Given the description of an element on the screen output the (x, y) to click on. 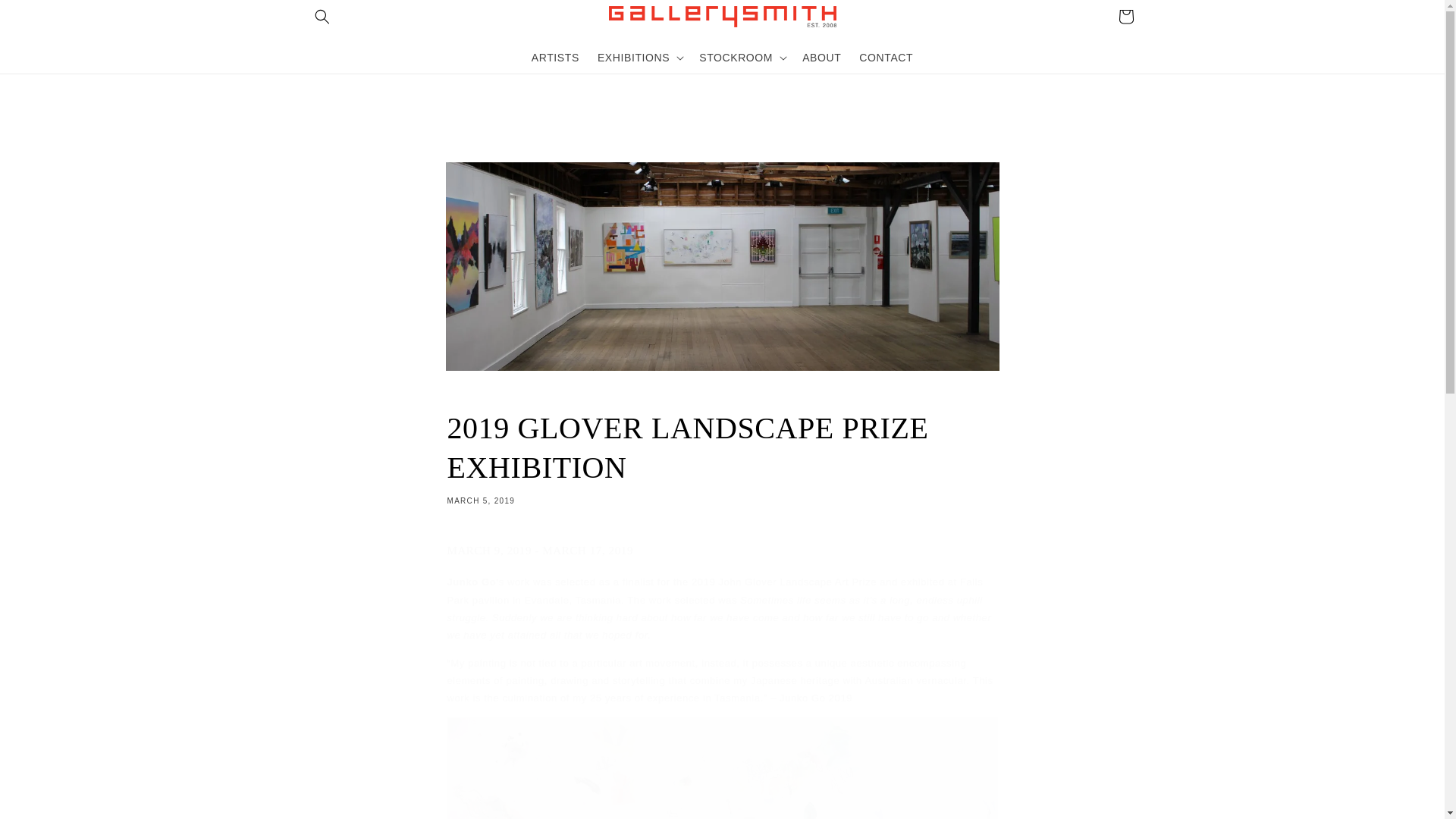
Skip to content (45, 16)
ARTISTS (721, 457)
ABOUT (555, 56)
Cart (821, 56)
CONTACT (1124, 16)
